Given the description of an element on the screen output the (x, y) to click on. 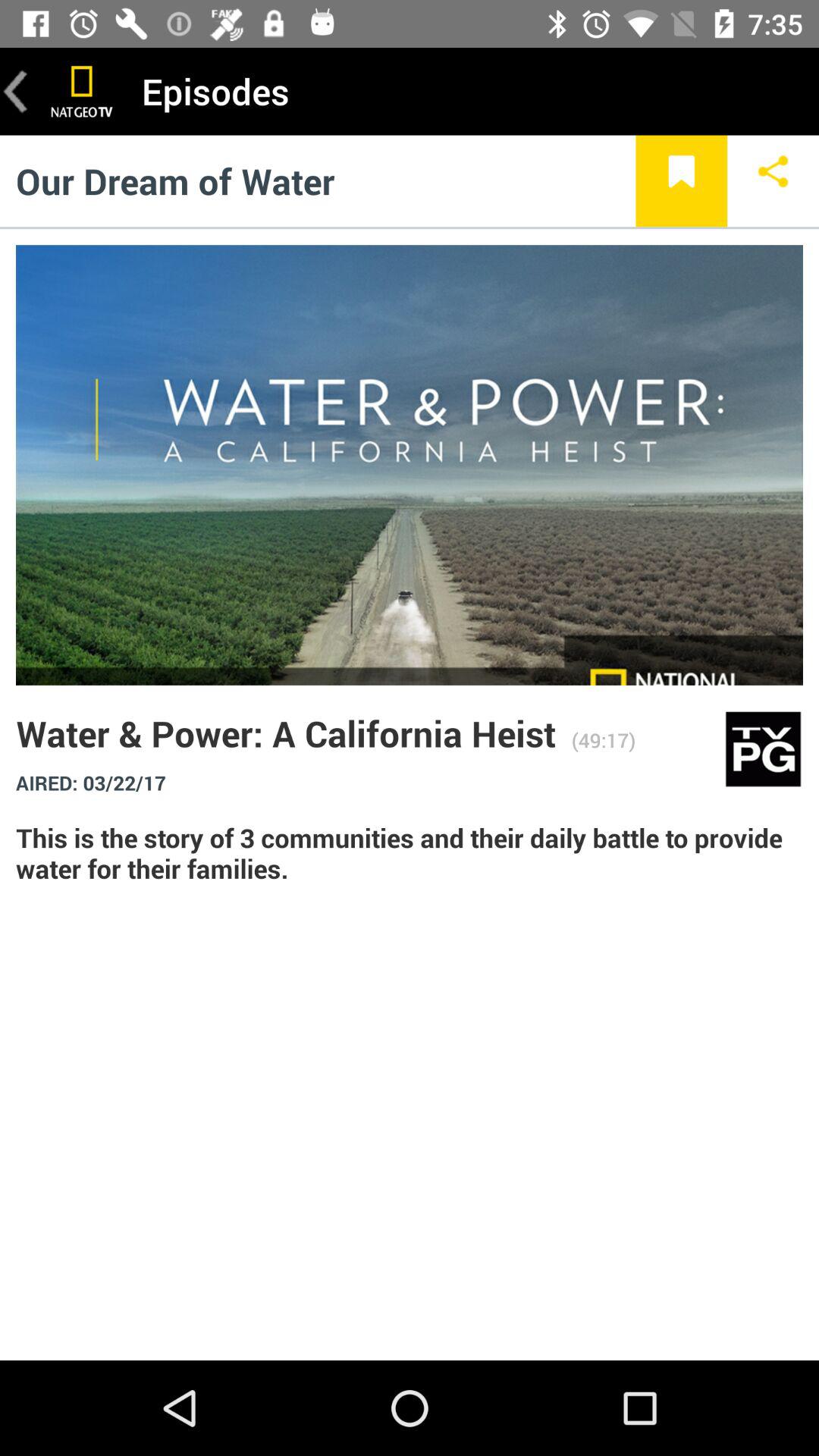
click item to the right of the our dream of item (681, 180)
